Given the description of an element on the screen output the (x, y) to click on. 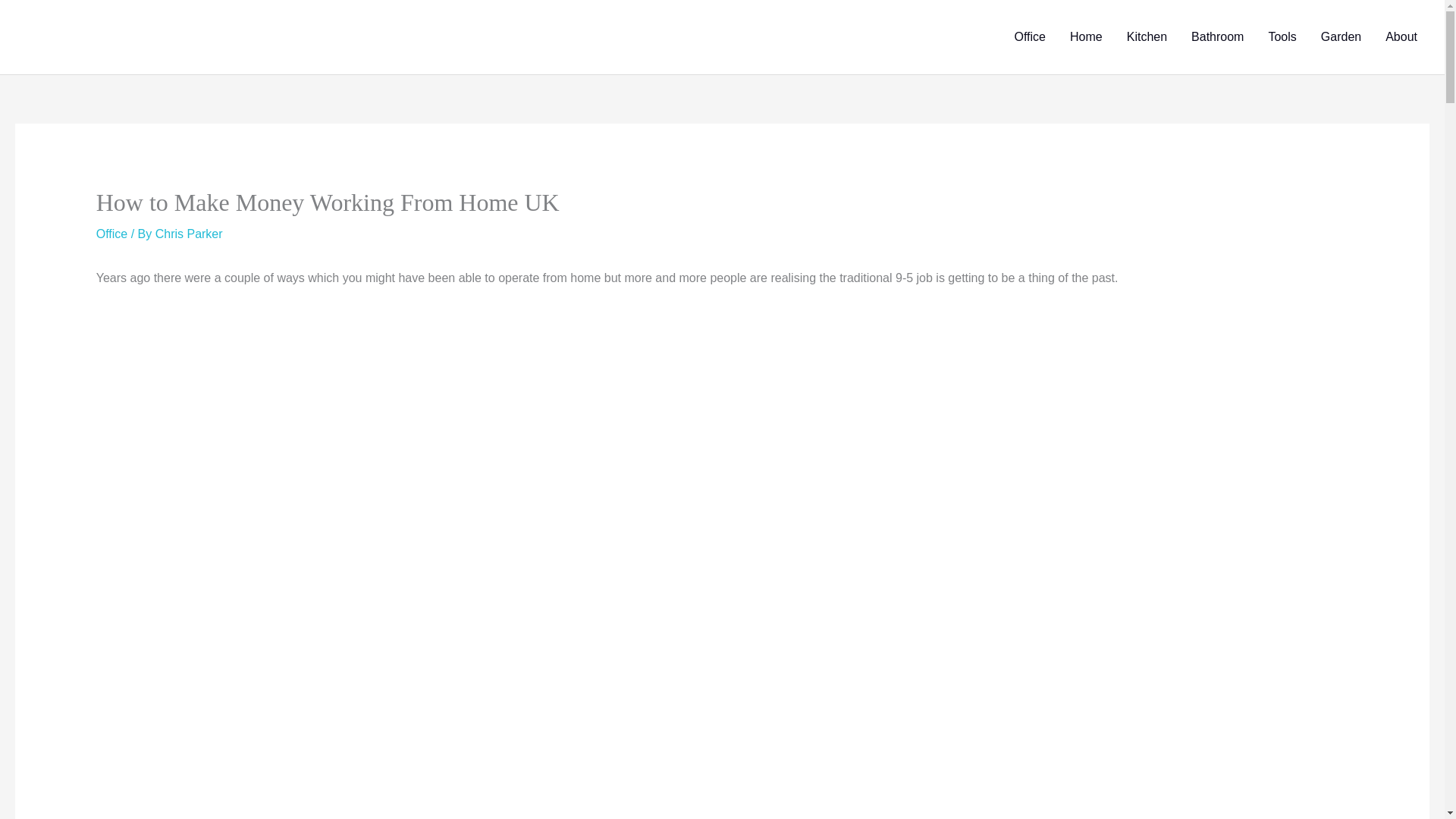
Office (112, 233)
View all posts by Chris Parker (188, 233)
Chris Parker (188, 233)
Bathroom (1217, 37)
